Given the description of an element on the screen output the (x, y) to click on. 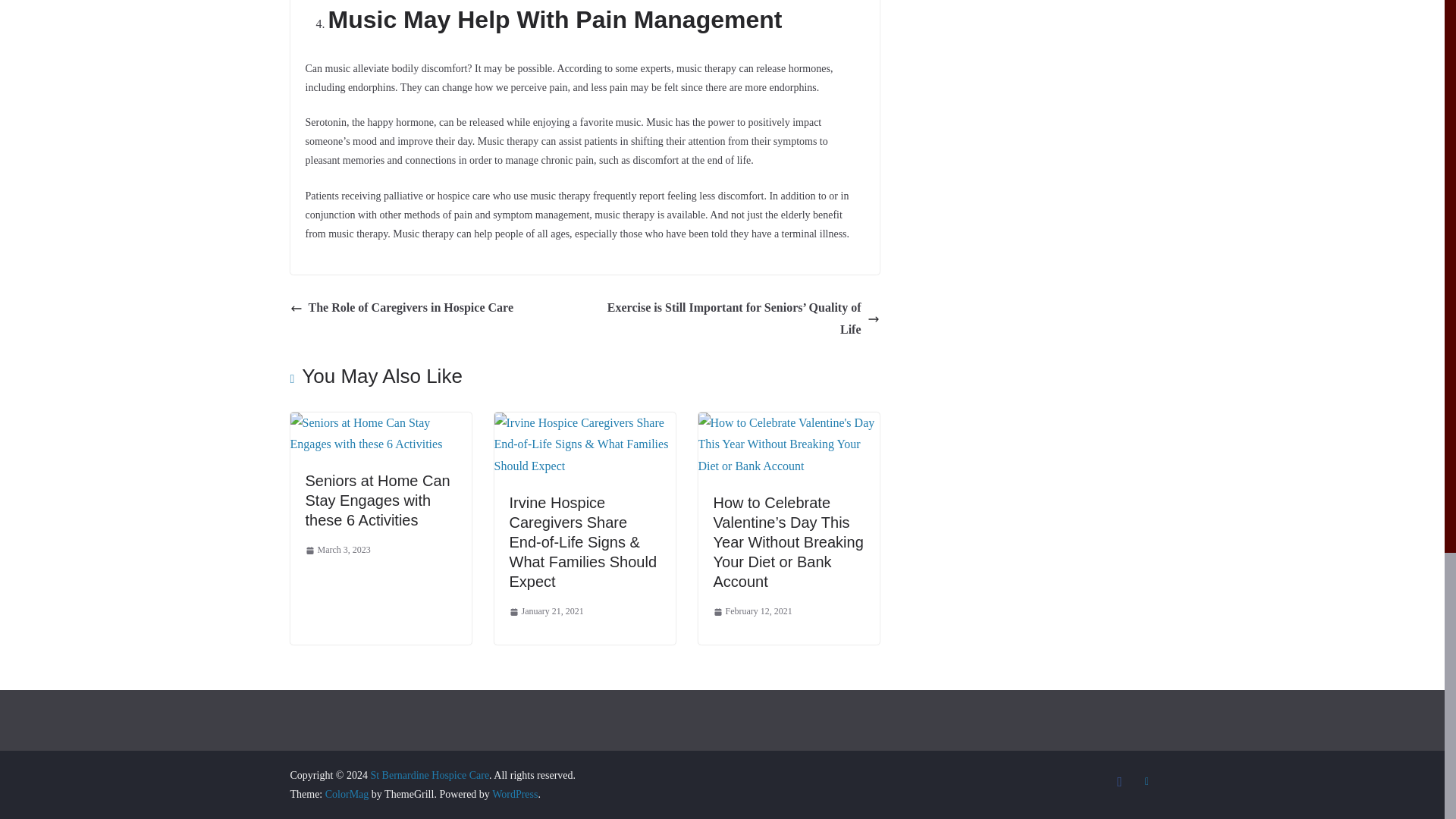
7:00 am (546, 611)
January 21, 2021 (546, 611)
Seniors at Home Can Stay Engages with these 6 Activities (376, 500)
Seniors at Home Can Stay Engages with these 6 Activities (379, 422)
March 3, 2023 (336, 550)
Seniors at Home Can Stay Engages with these 6 Activities (376, 500)
10:00 am (336, 550)
The Role of Caregivers in Hospice Care (400, 308)
